Given the description of an element on the screen output the (x, y) to click on. 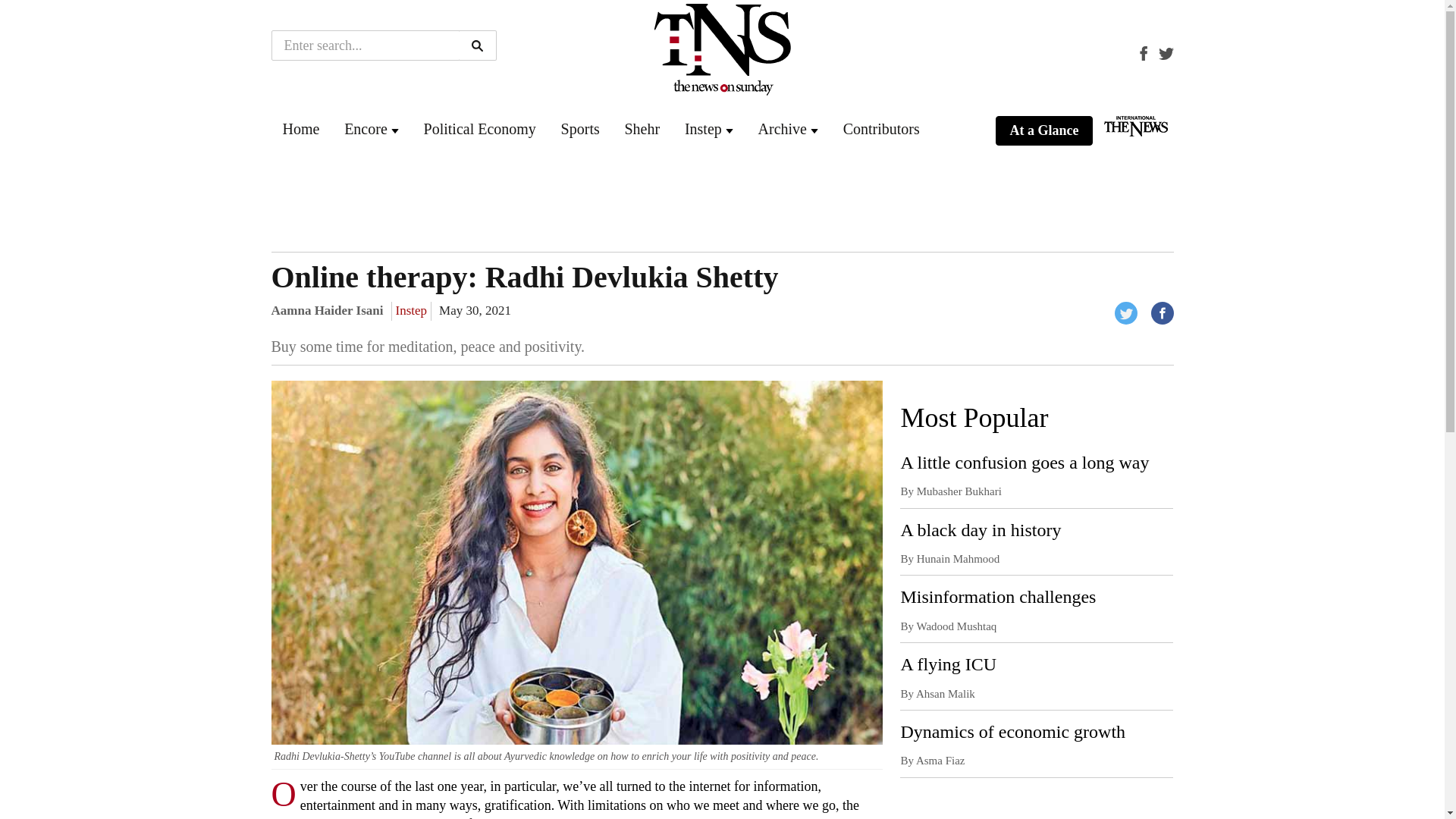
Contributors (881, 128)
By Hunain Mahmood (948, 558)
Shehr (641, 128)
Political-Economy (479, 128)
At a Glance (1043, 131)
Archive (782, 128)
A little confusion goes a long way (1023, 462)
Home (300, 128)
Instep (703, 128)
Archive (782, 128)
